Given the description of an element on the screen output the (x, y) to click on. 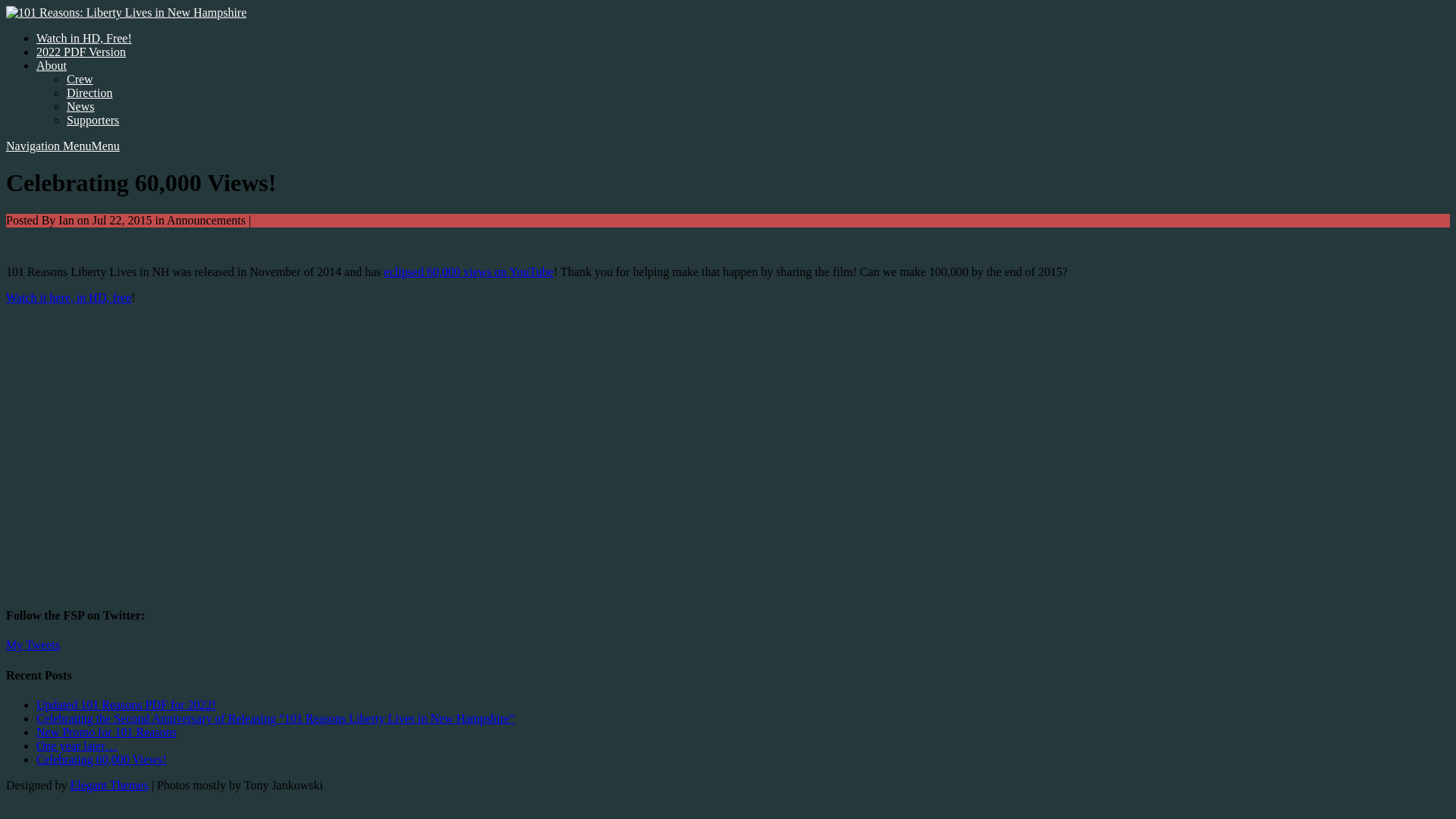
My Tweets Element type: text (32, 644)
Direction Element type: text (89, 92)
2022 PDF Version Element type: text (80, 51)
Elegant Themes Element type: text (108, 784)
Crew Element type: text (79, 78)
Watch it here, in HD, free Element type: text (68, 297)
News Element type: text (80, 106)
New Promo for 101 Reasons Element type: text (106, 731)
About Element type: text (51, 65)
Celebrating 60,000 Views! Element type: text (101, 759)
Watch in HD, Free! Element type: text (83, 37)
Navigation MenuMenu Element type: text (62, 145)
Supporters Element type: text (92, 119)
eclipsed 60,000 views on YouTube Element type: text (468, 271)
Updated 101 Reasons PDF for 2022! Element type: text (126, 704)
